Given the description of an element on the screen output the (x, y) to click on. 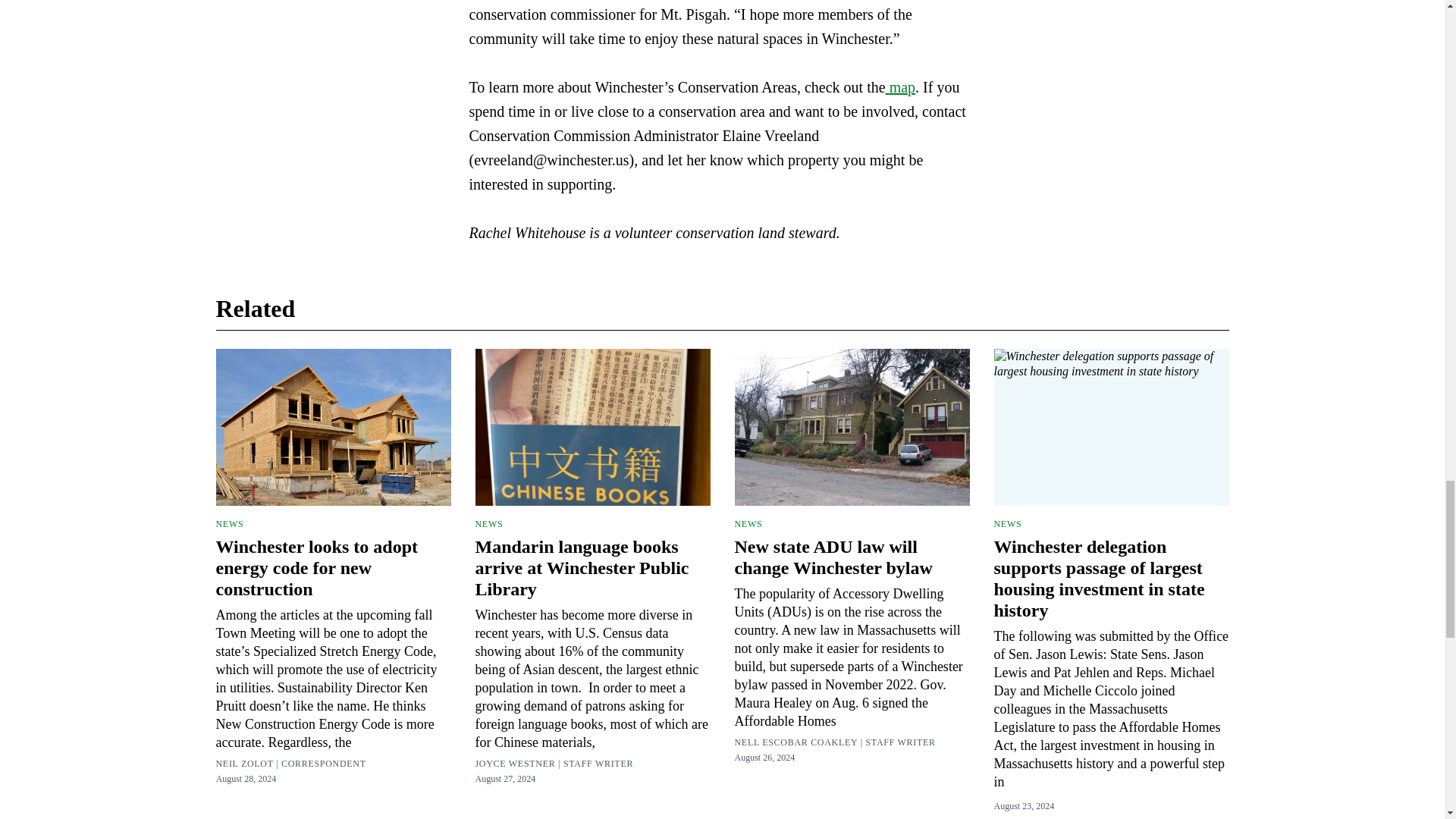
NEWS (488, 523)
 map (900, 86)
NEWS (1007, 523)
NEWS (747, 523)
New state ADU law will change Winchester bylaw (832, 557)
Mandarin language books arrive at Winchester Public Library (581, 567)
NEWS (229, 523)
Winchester looks to adopt energy code for new construction (315, 567)
